Given the description of an element on the screen output the (x, y) to click on. 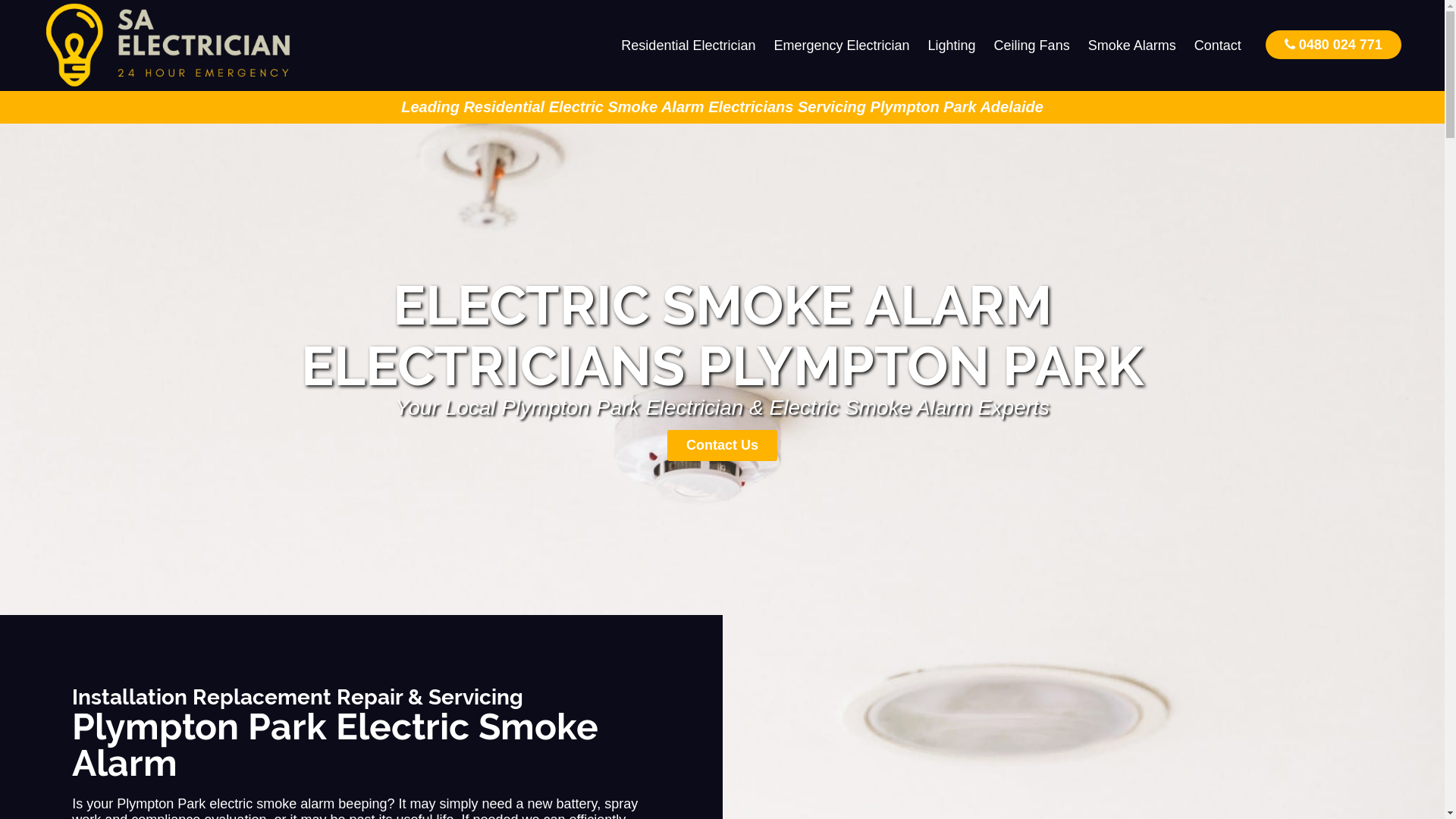
Emergency Electrician Element type: text (841, 45)
Contact Element type: text (1217, 45)
Contact Us Element type: text (722, 445)
Smoke Alarms Element type: text (1132, 45)
Lighting Element type: text (952, 45)
0480 024 771 Element type: text (1333, 44)
Ceiling Fans Element type: text (1032, 45)
Residential Electrician Element type: text (687, 45)
